Given the description of an element on the screen output the (x, y) to click on. 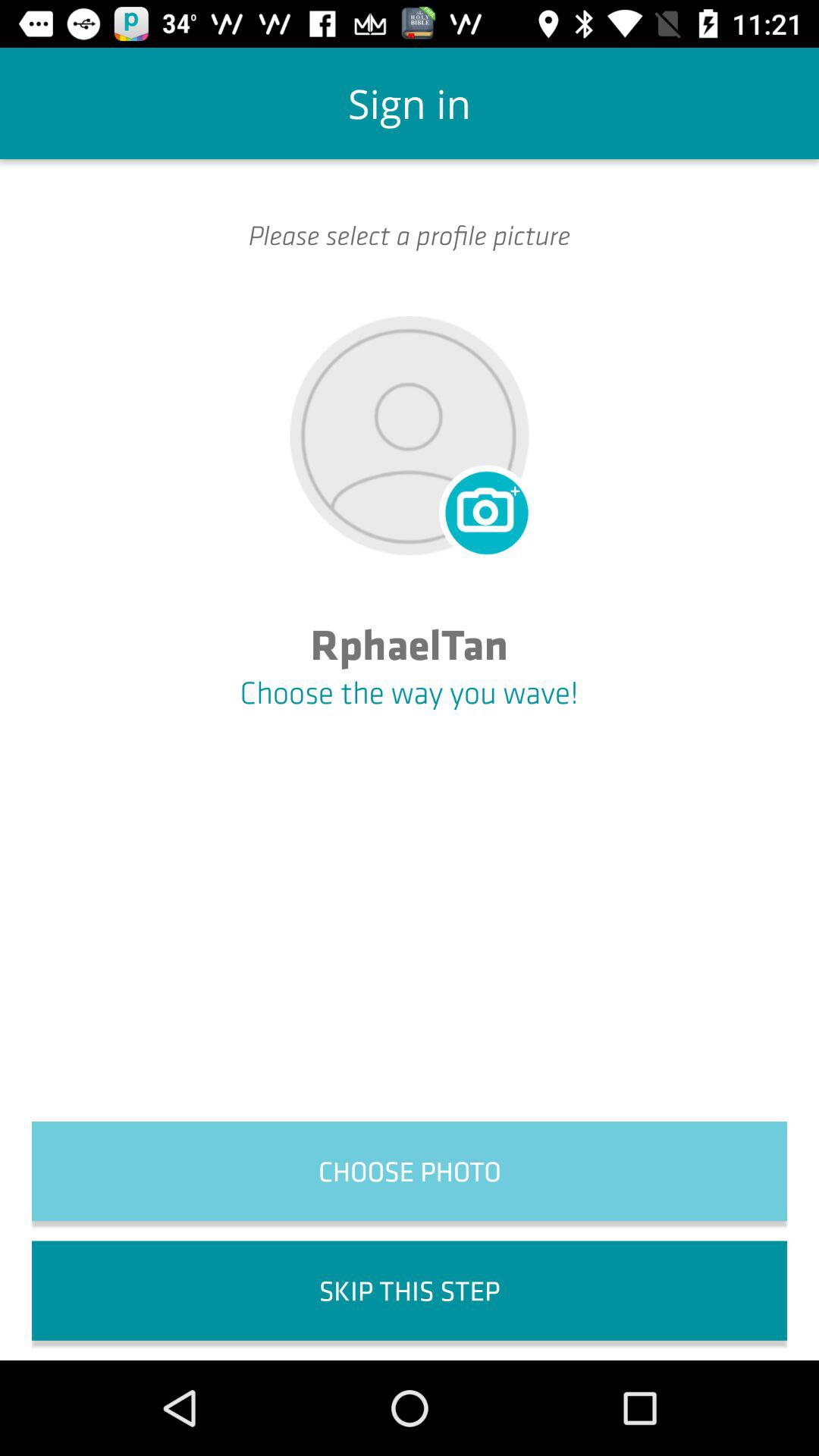
turn on item below the choose photo item (409, 1290)
